Given the description of an element on the screen output the (x, y) to click on. 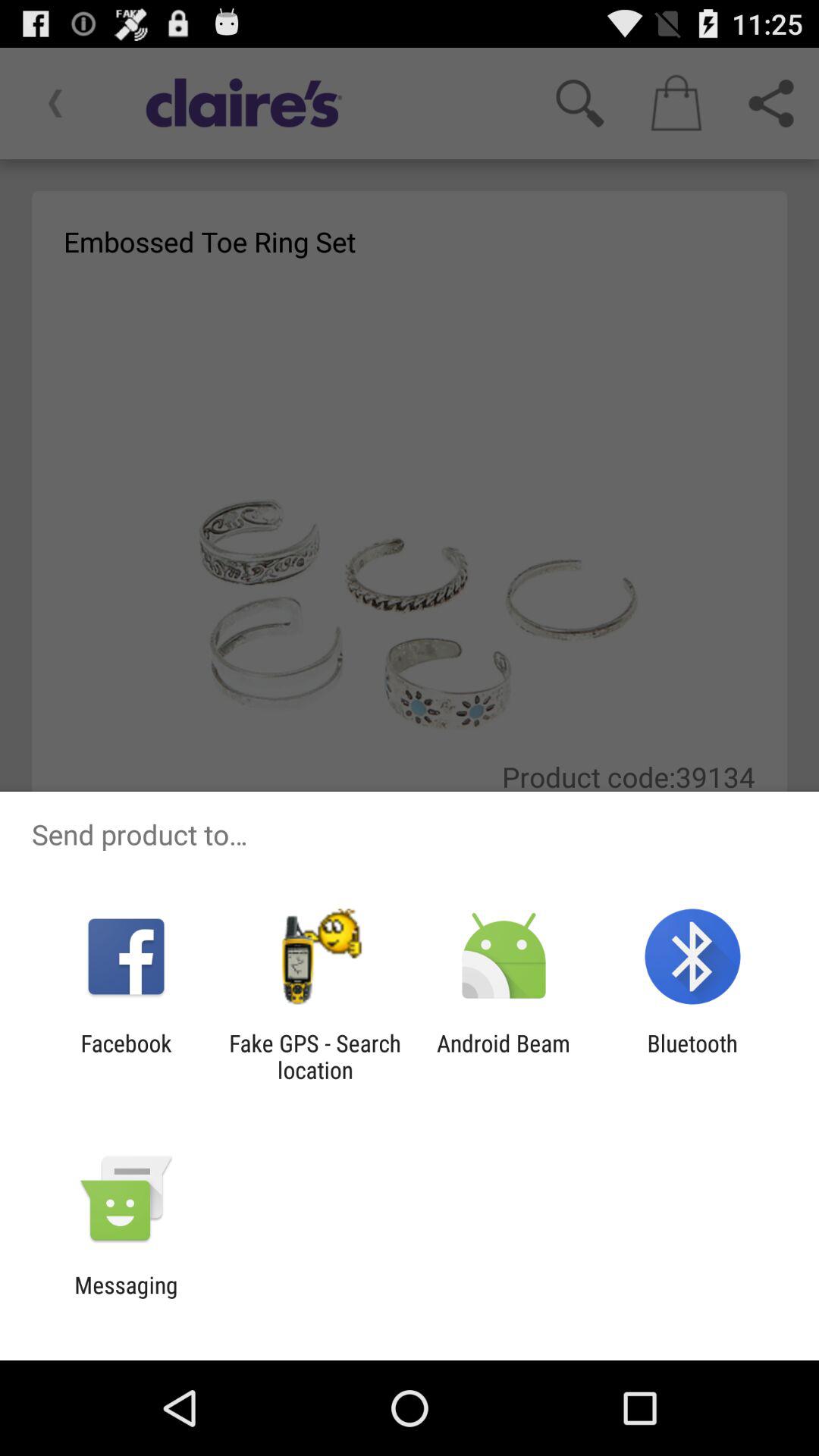
launch bluetooth icon (692, 1056)
